Given the description of an element on the screen output the (x, y) to click on. 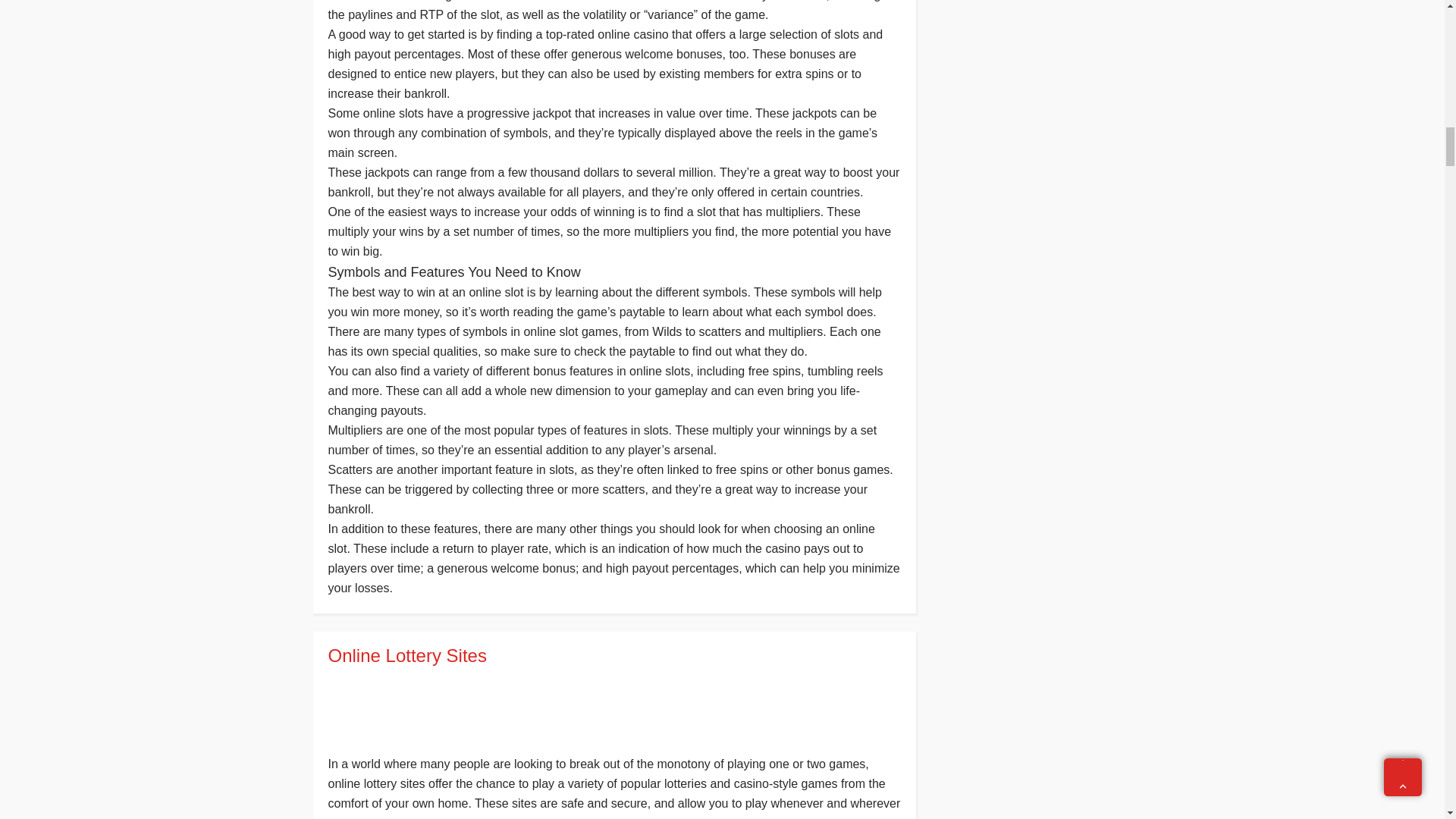
Online Lottery Sites (613, 656)
